Given the description of an element on the screen output the (x, y) to click on. 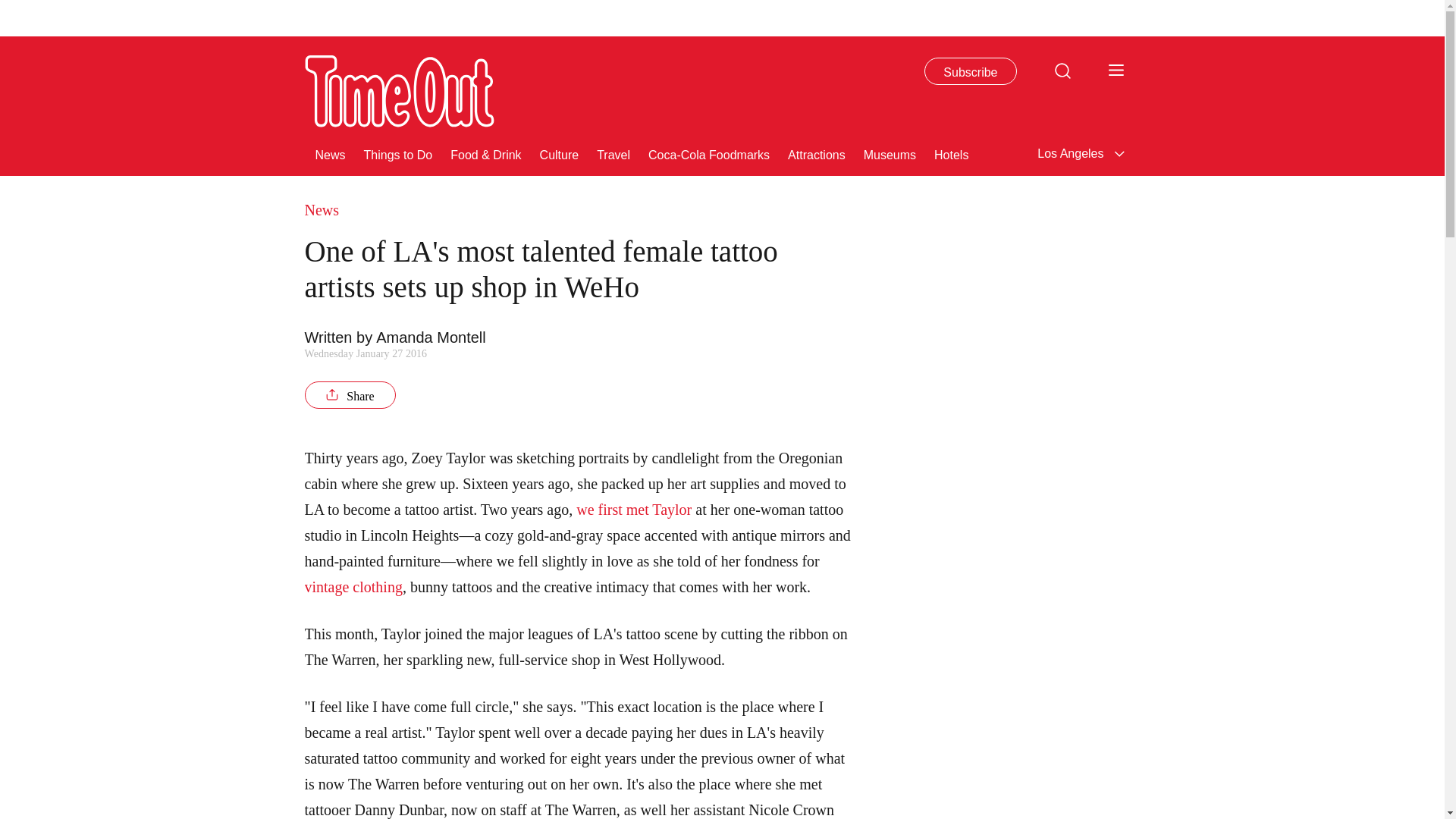
News (330, 153)
Go to the content (10, 7)
Search (1061, 69)
Travel (613, 153)
Attractions (816, 153)
Things to Do (397, 153)
Culture (559, 153)
Subscribe (970, 71)
Museums (889, 153)
Coca-Cola Foodmarks (708, 153)
